Given the description of an element on the screen output the (x, y) to click on. 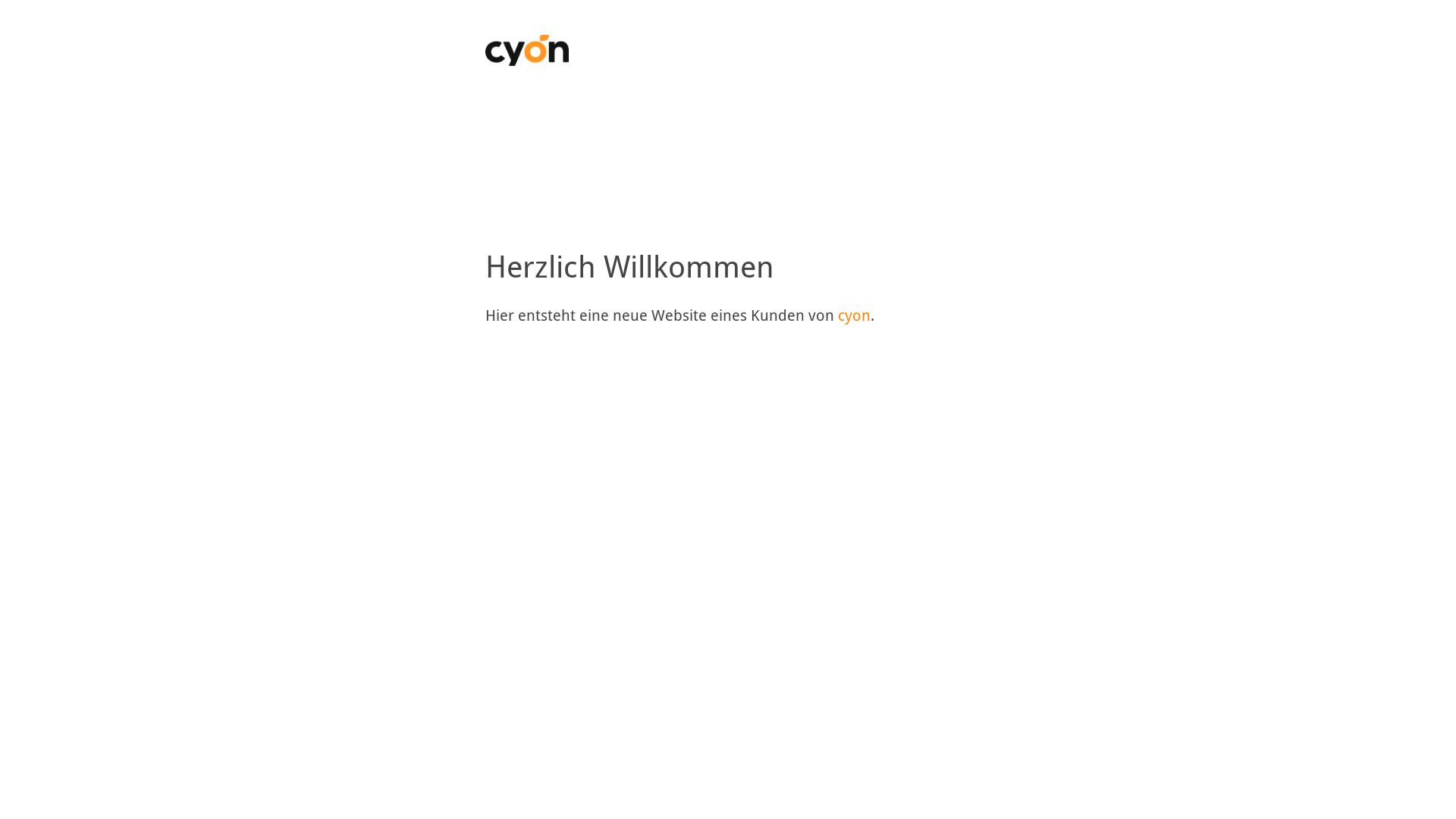
cyon Element type: text (853, 315)
